Given the description of an element on the screen output the (x, y) to click on. 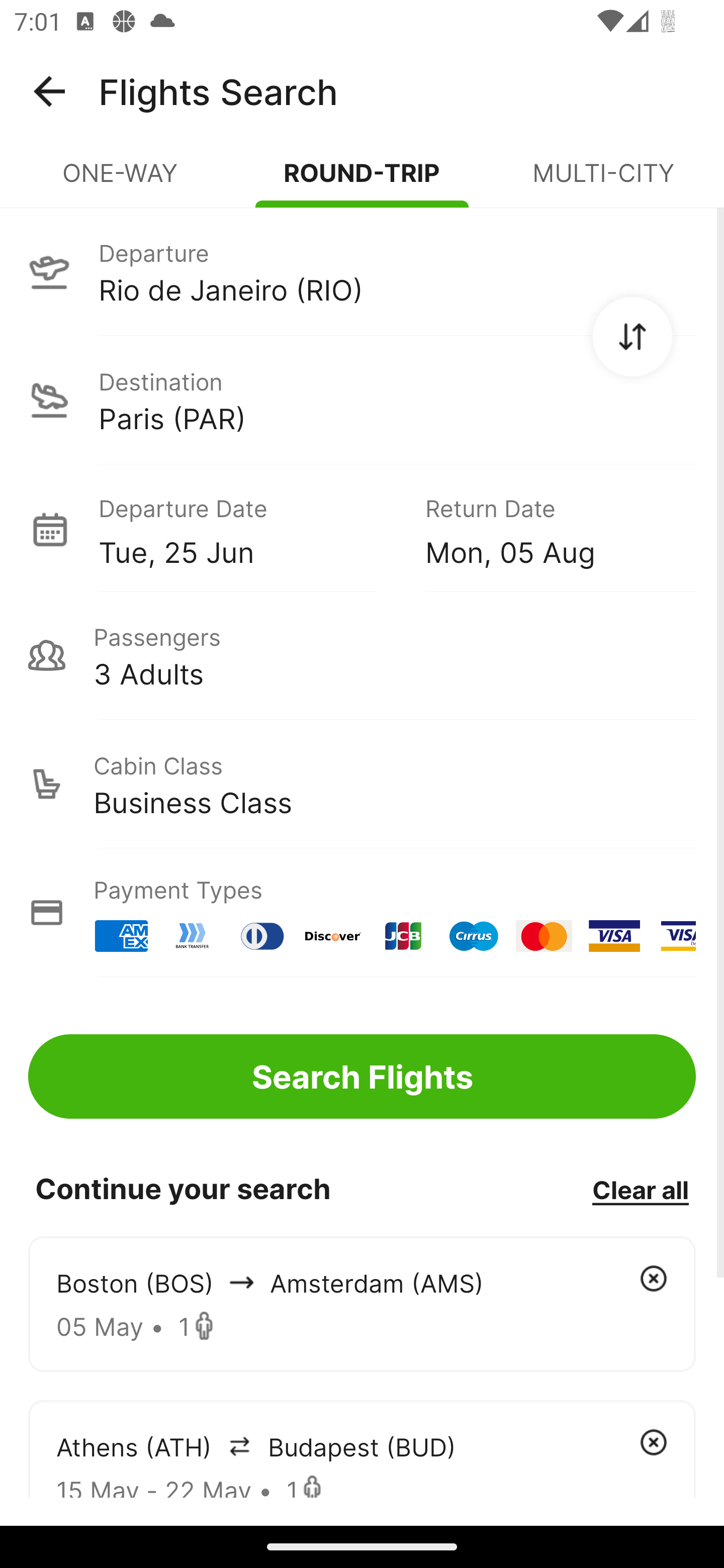
ONE-WAY (120, 180)
ROUND-TRIP (361, 180)
MULTI-CITY (603, 180)
Departure Rio de Janeiro (RIO) (362, 270)
Destination Paris (PAR) (362, 400)
Departure Date Tue, 25 Jun (247, 528)
Return Date Mon, 05 Aug (546, 528)
Passengers 3 Adults (362, 655)
Cabin Class Business Class (362, 783)
Payment Types (362, 912)
Search Flights (361, 1075)
Clear all (640, 1189)
